Given the description of an element on the screen output the (x, y) to click on. 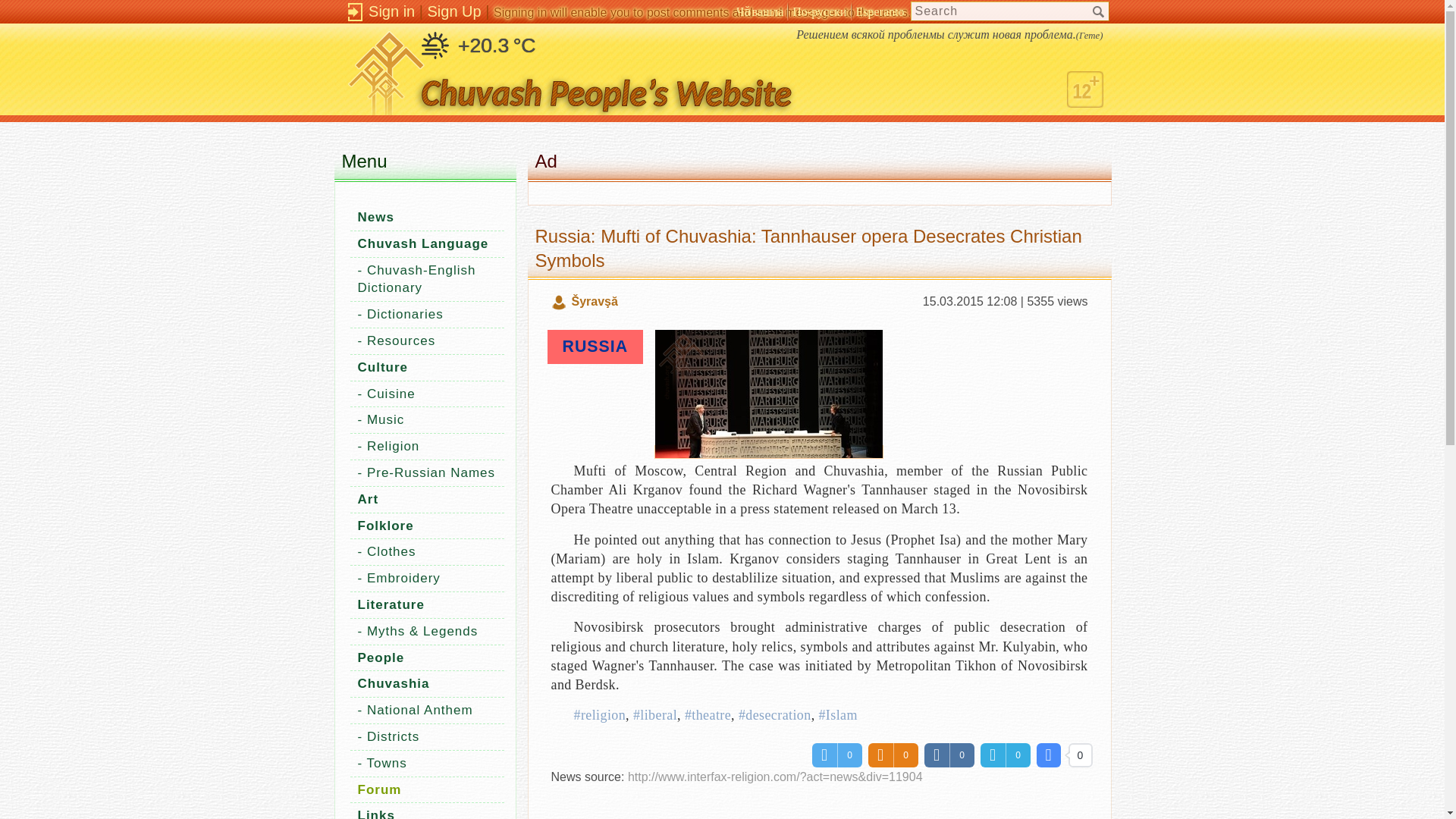
Chuvash Language (423, 243)
RUSSIA (595, 346)
News (376, 216)
Sign Up (454, 11)
Esperanto (880, 11)
Sign in (391, 11)
Advertisement (818, 808)
